Given the description of an element on the screen output the (x, y) to click on. 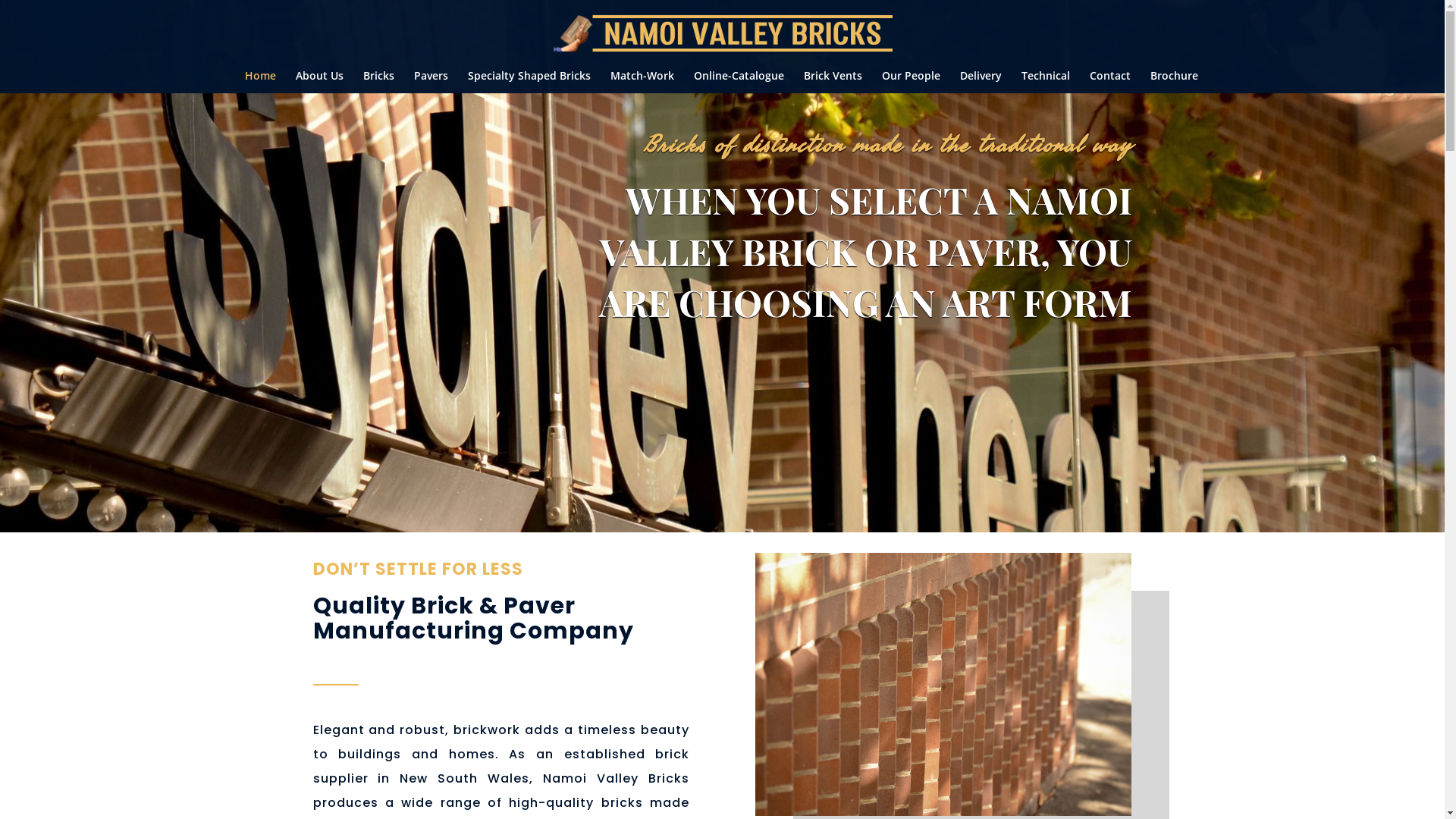
About Us Element type: text (319, 81)
Technical Element type: text (1045, 81)
Brochure Element type: text (1174, 81)
Home Element type: text (260, 81)
Our People Element type: text (910, 81)
Pavers Element type: text (431, 81)
Contact Element type: text (1109, 81)
Brick Vents Element type: text (832, 81)
Online-Catalogue Element type: text (738, 81)
Match-Work Element type: text (642, 81)
Bricks Element type: text (378, 81)
Delivery Element type: text (980, 81)
Specialty Shaped Bricks Element type: text (528, 81)
